Given the description of an element on the screen output the (x, y) to click on. 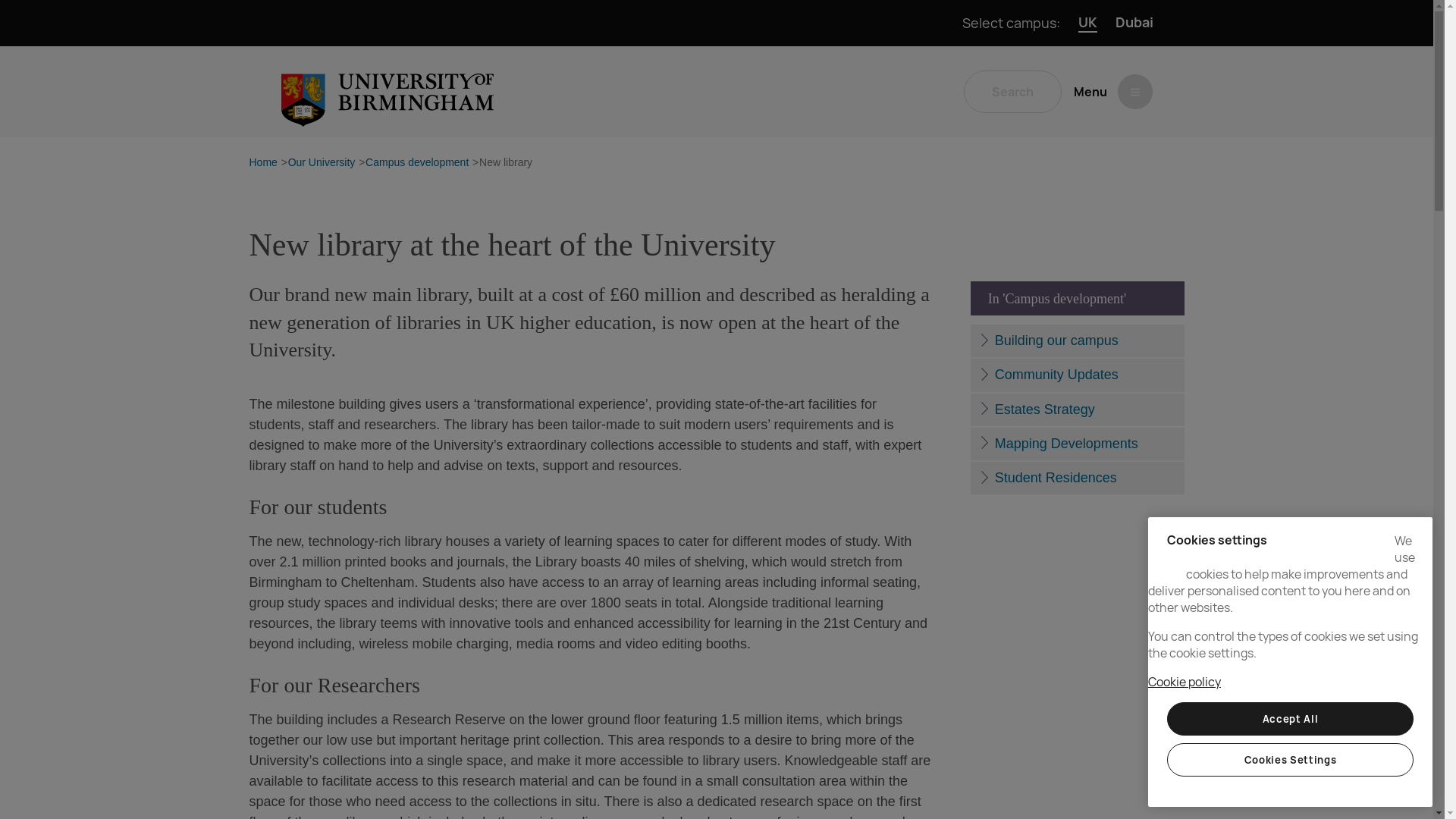
Search (1012, 91)
Our University (321, 163)
Campus development (416, 163)
Dubai (1134, 23)
Community Updates (1077, 374)
Student Residences (1077, 477)
Building our campus (1077, 340)
Estates Strategy (1077, 409)
New library (505, 163)
UK (1087, 23)
Home (262, 163)
Mapping Developments (1077, 443)
